Given the description of an element on the screen output the (x, y) to click on. 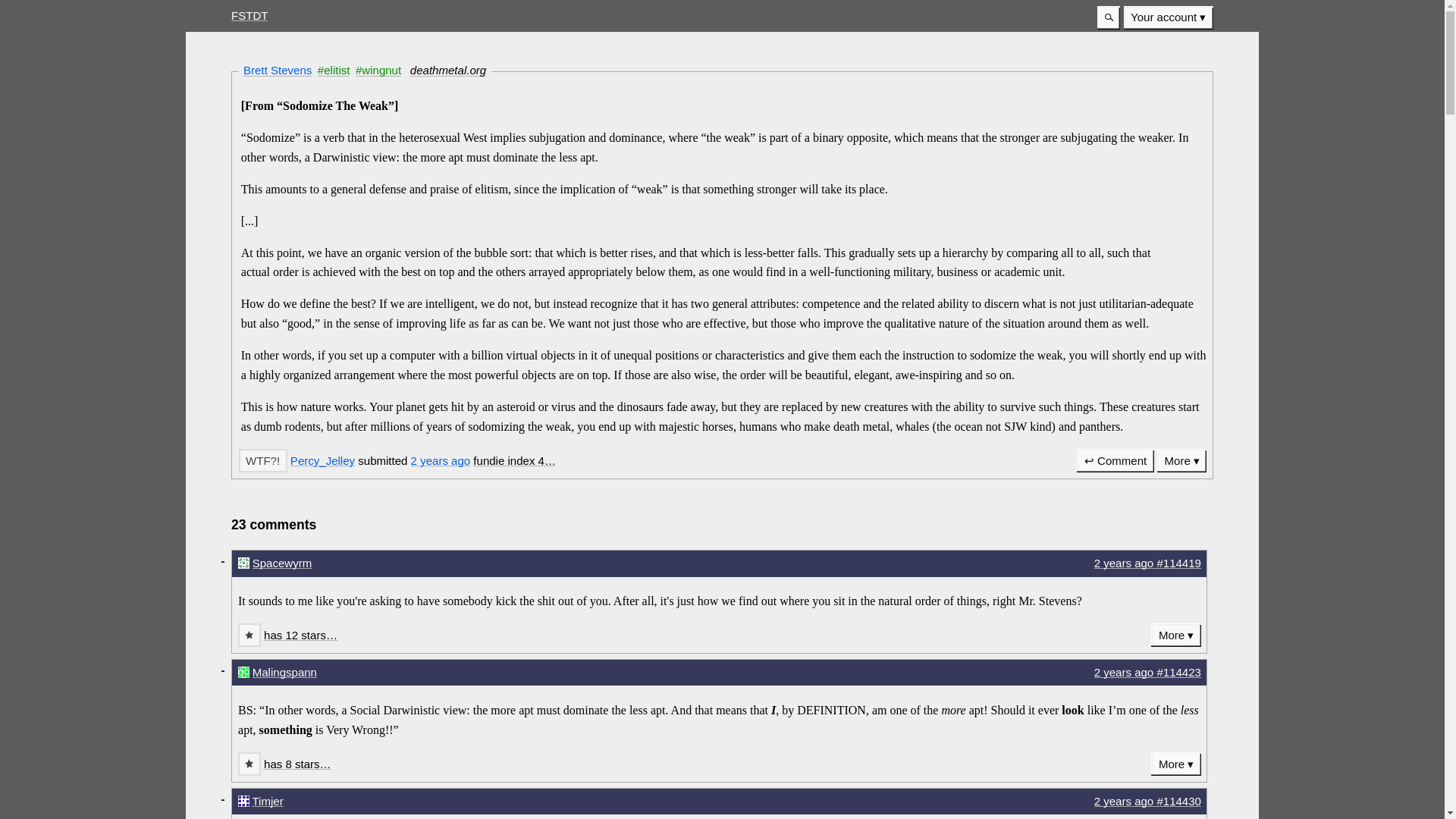
Log in to vote (249, 763)
Brett Stevens (277, 69)
Log in to vote (262, 460)
Log in to vote (249, 635)
Search (1108, 17)
Malingspann (284, 671)
114419 (249, 635)
FSTDT (249, 15)
deathmetal.org (448, 69)
Y2GTRZS827R49 (262, 460)
